Given the description of an element on the screen output the (x, y) to click on. 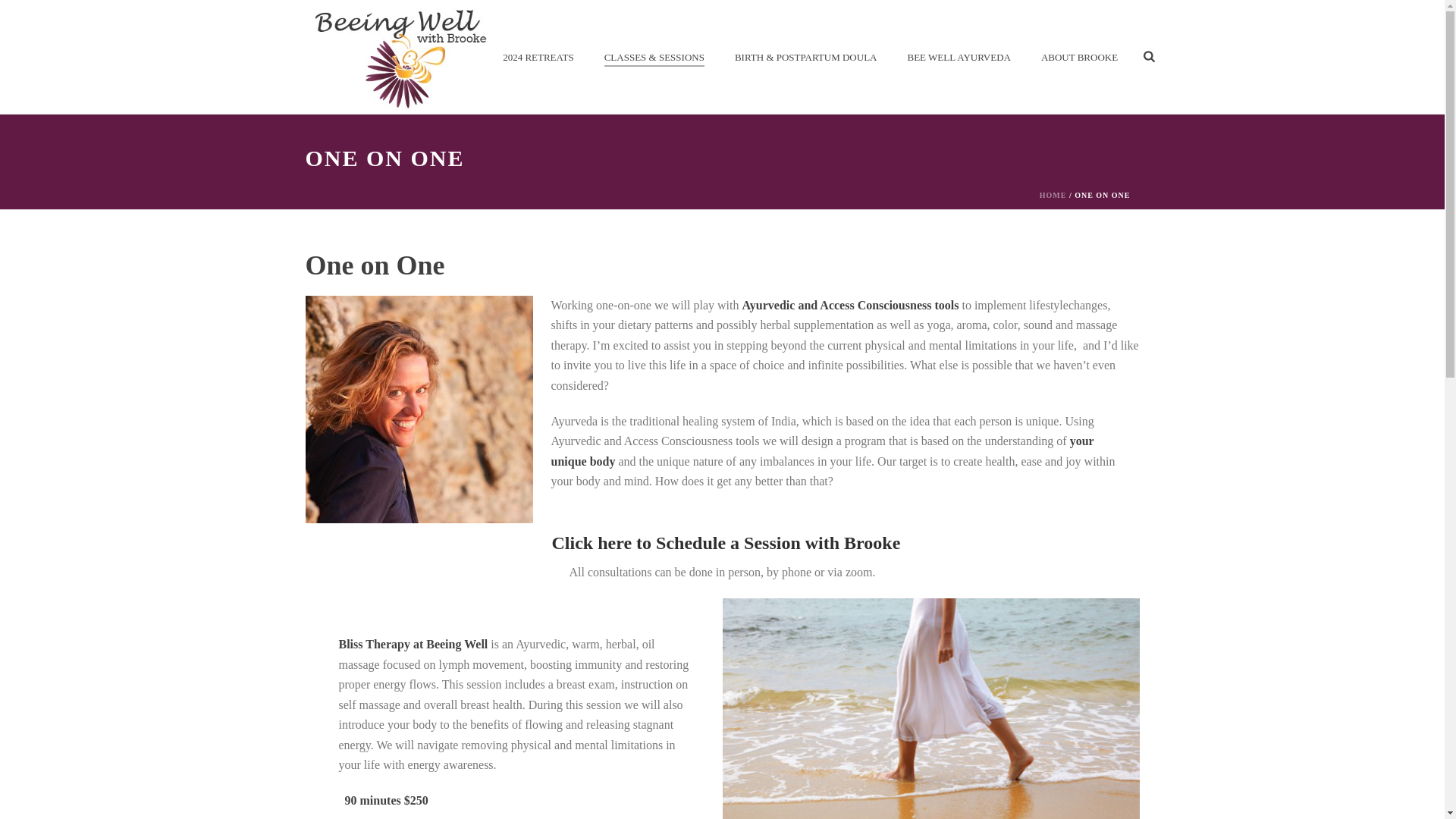
2024 RETREATS (538, 57)
HOME (1053, 194)
BEE WELL AYURVEDA (958, 57)
ABOUT BROOKE (1079, 57)
ABOUT BROOKE (1079, 57)
Click here to Schedule a Session with Brooke (726, 542)
2024 RETREATS (538, 57)
BEE WELL AYURVEDA (958, 57)
Empowered Healing in Rhythm with Nature (399, 56)
